Given the description of an element on the screen output the (x, y) to click on. 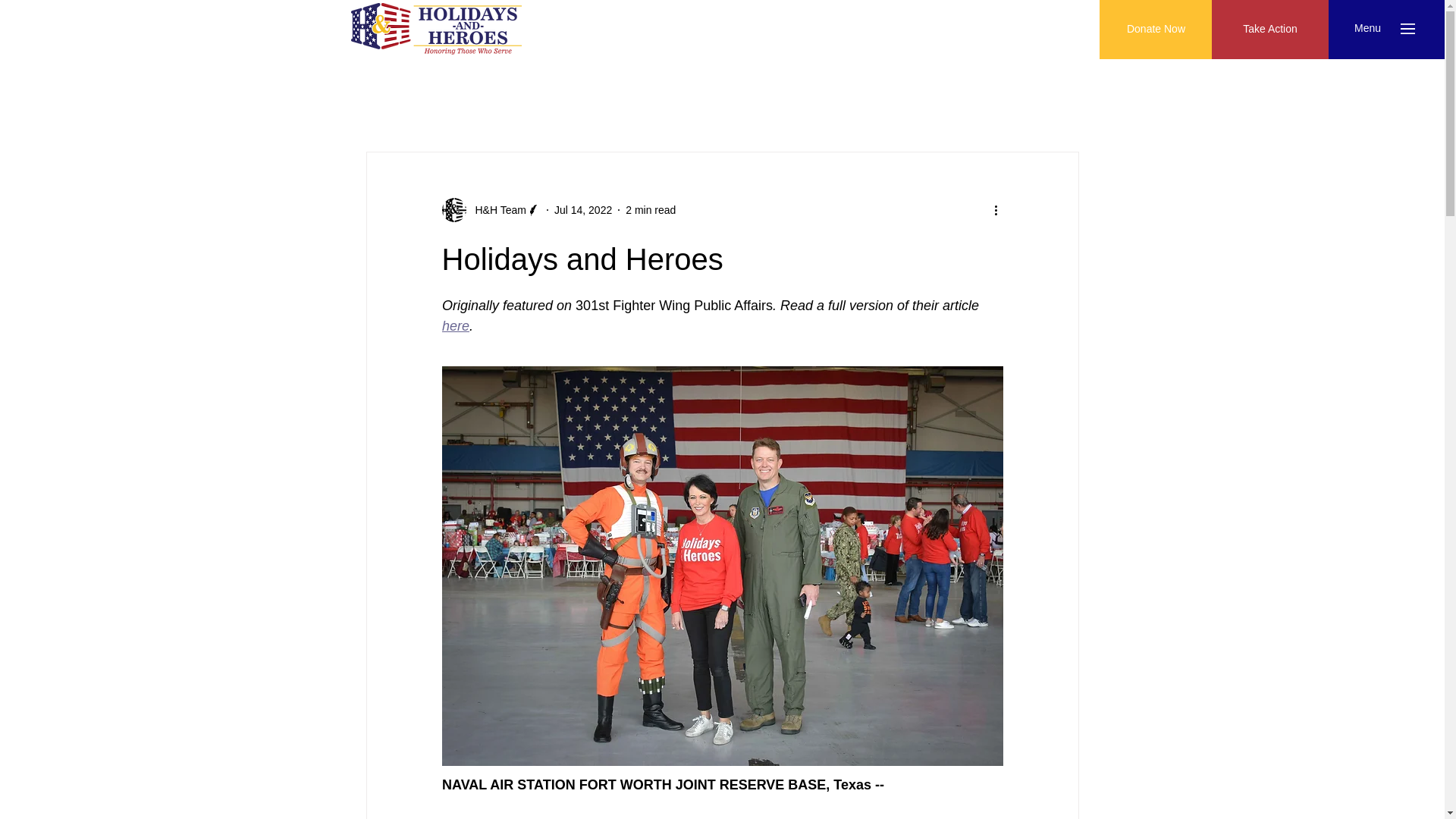
Donate Now (1155, 29)
2 min read (650, 209)
Take Action (1269, 29)
here (454, 325)
Jul 14, 2022 (582, 209)
